Given the description of an element on the screen output the (x, y) to click on. 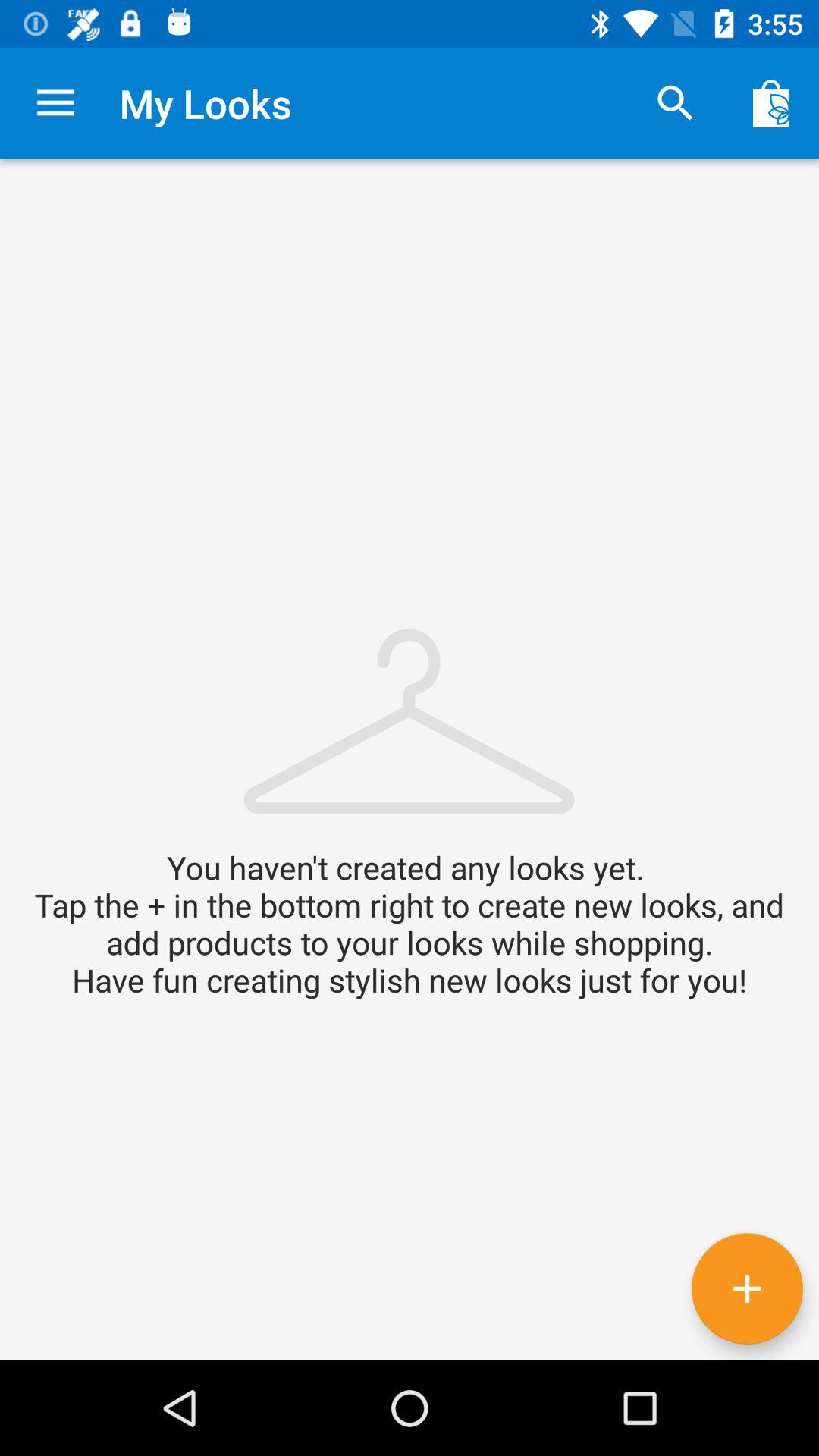
open the icon next to my looks item (675, 103)
